Given the description of an element on the screen output the (x, y) to click on. 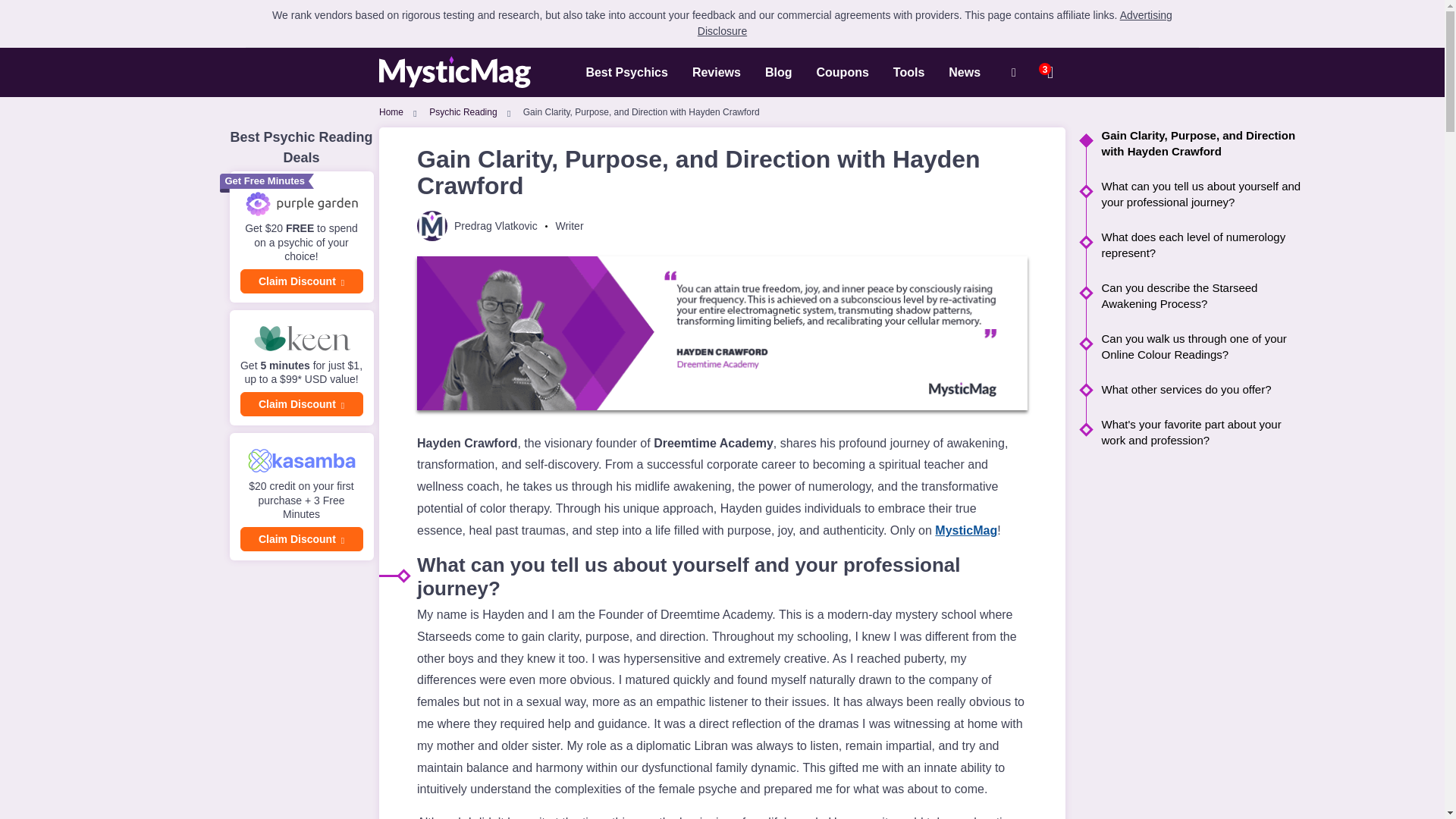
What's your favorite part about your work and profession? (1193, 431)
Reviews (716, 71)
Blog (778, 71)
Best Psychics (626, 71)
Gain Clarity, Purpose, and Direction with Hayden Crawford (1193, 142)
What does each level of numerology represent? (1193, 245)
Advertising Disclosure (934, 22)
Can you walk us through one of your Online Colour Readings? (1193, 346)
What other services do you offer? (1193, 389)
MysticMag (454, 72)
